Given the description of an element on the screen output the (x, y) to click on. 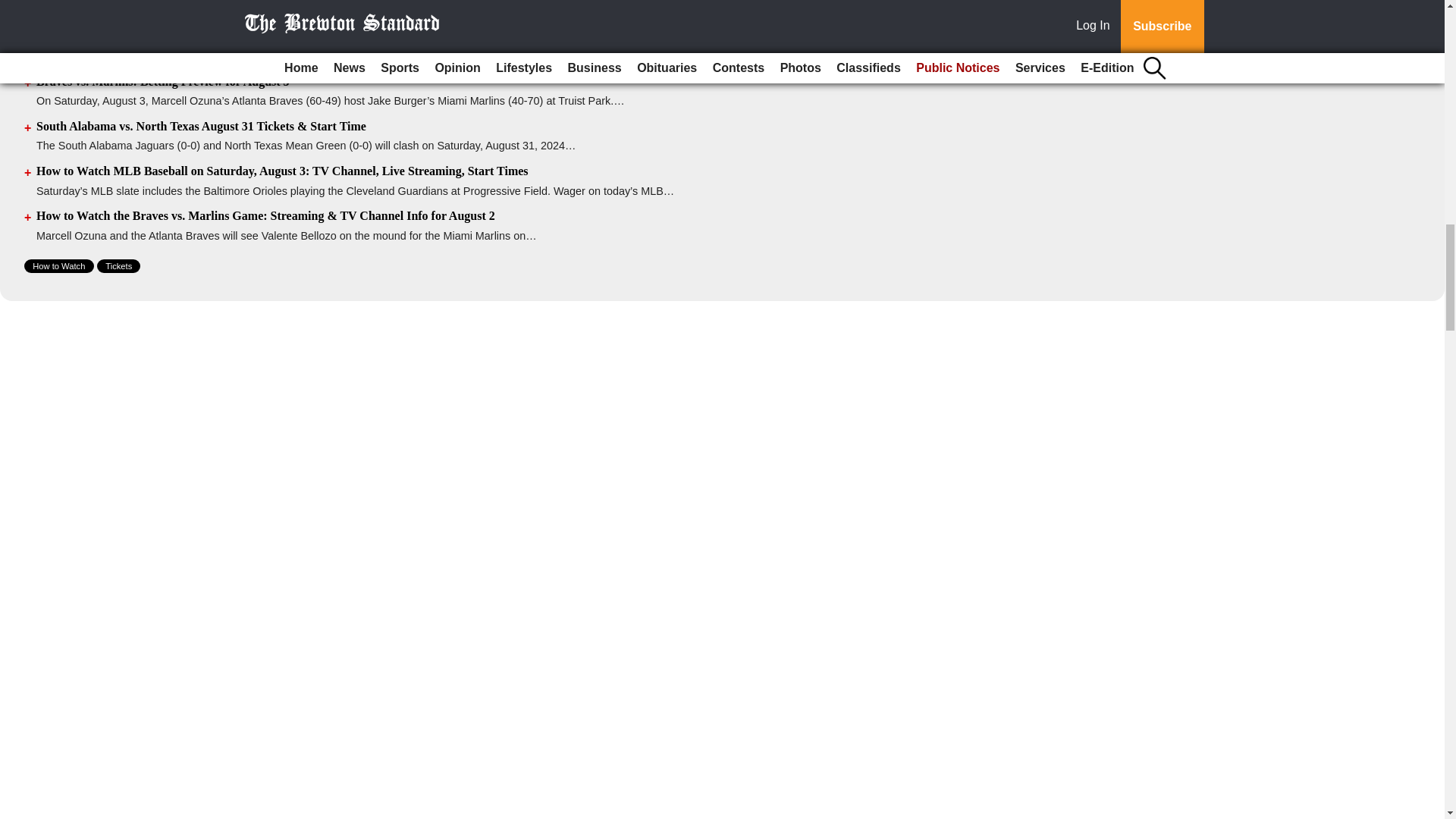
Braves vs. Marlins: Betting Preview for August 3 (162, 81)
How to Watch (59, 265)
Tickets (118, 265)
